Given the description of an element on the screen output the (x, y) to click on. 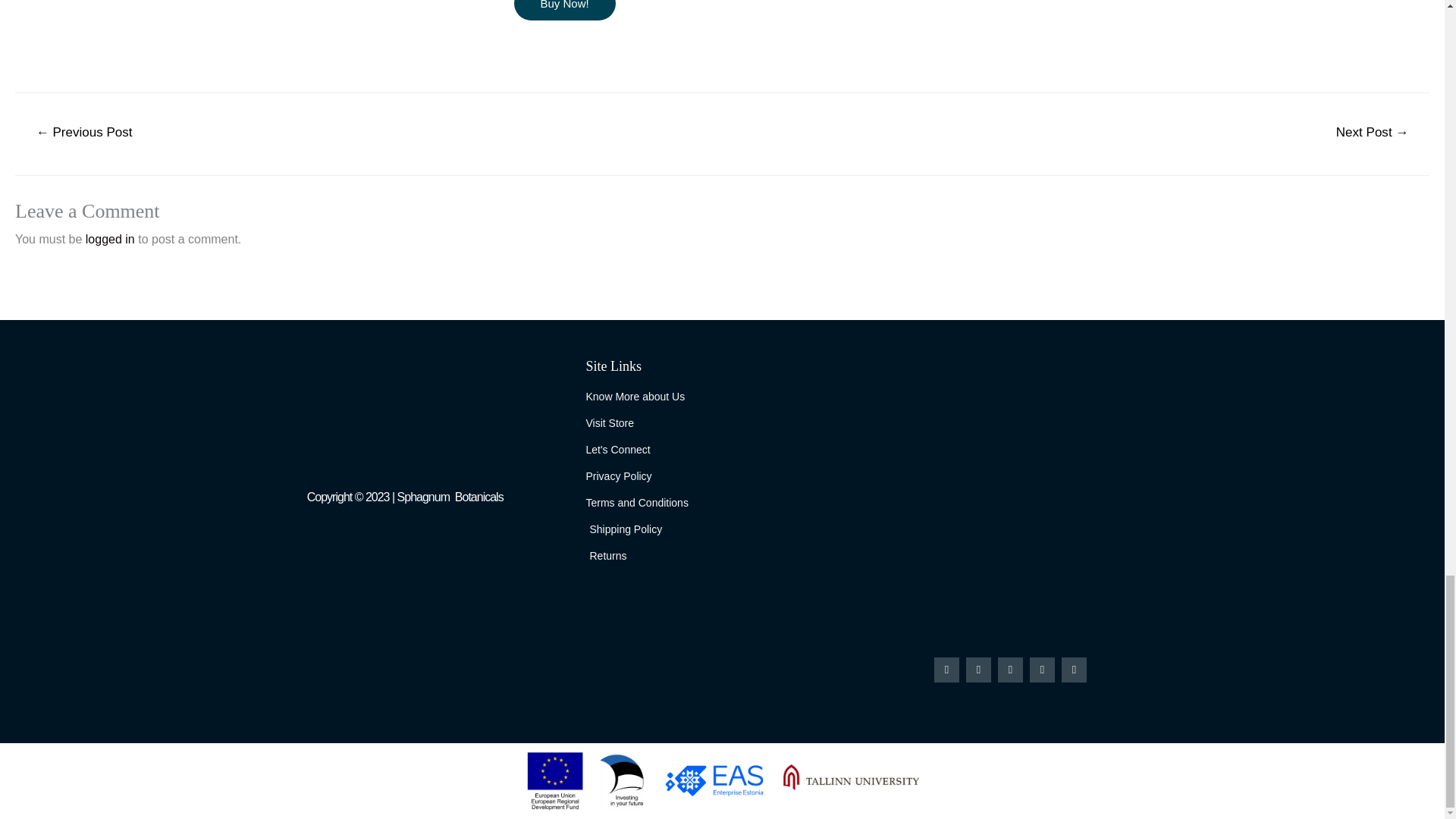
Privacy Policy (722, 476)
Buy Now! (564, 10)
Returns (722, 556)
Know More about Us (722, 397)
Visit Store (722, 424)
logged in (110, 238)
Shipping Policy (722, 529)
Terms and Conditions (722, 503)
Let's Connect (722, 450)
